Given the description of an element on the screen output the (x, y) to click on. 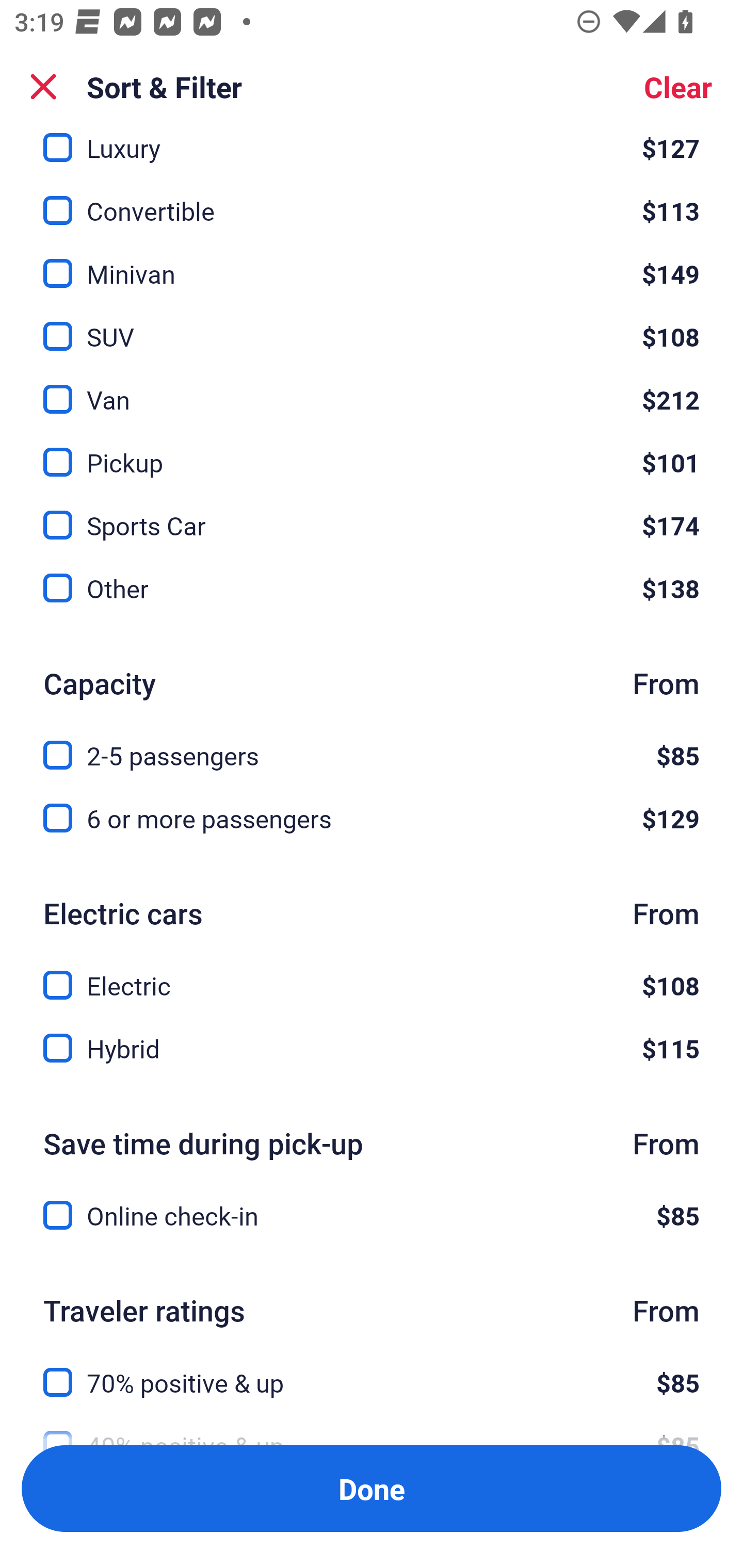
Close Sort and Filter (43, 86)
Clear (677, 86)
Luxury, $127 Luxury $127 (371, 148)
Convertible, $113 Convertible $113 (371, 198)
Minivan, $149 Minivan $149 (371, 261)
SUV, $108 SUV $108 (371, 324)
Van, $212 Van $212 (371, 386)
Pickup, $101 Pickup $101 (371, 450)
Sports Car, $174 Sports Car $174 (371, 513)
Other, $138 Other $138 (371, 588)
2-5 passengers, $85 2-5 passengers $85 (371, 742)
Electric, $108 Electric $108 (371, 973)
Hybrid, $115 Hybrid $115 (371, 1048)
Online check-in, $85 Online check-in $85 (371, 1215)
70% positive & up, $85 70% positive & up $85 (371, 1370)
Apply and close Sort and Filter Done (371, 1488)
